Given the description of an element on the screen output the (x, y) to click on. 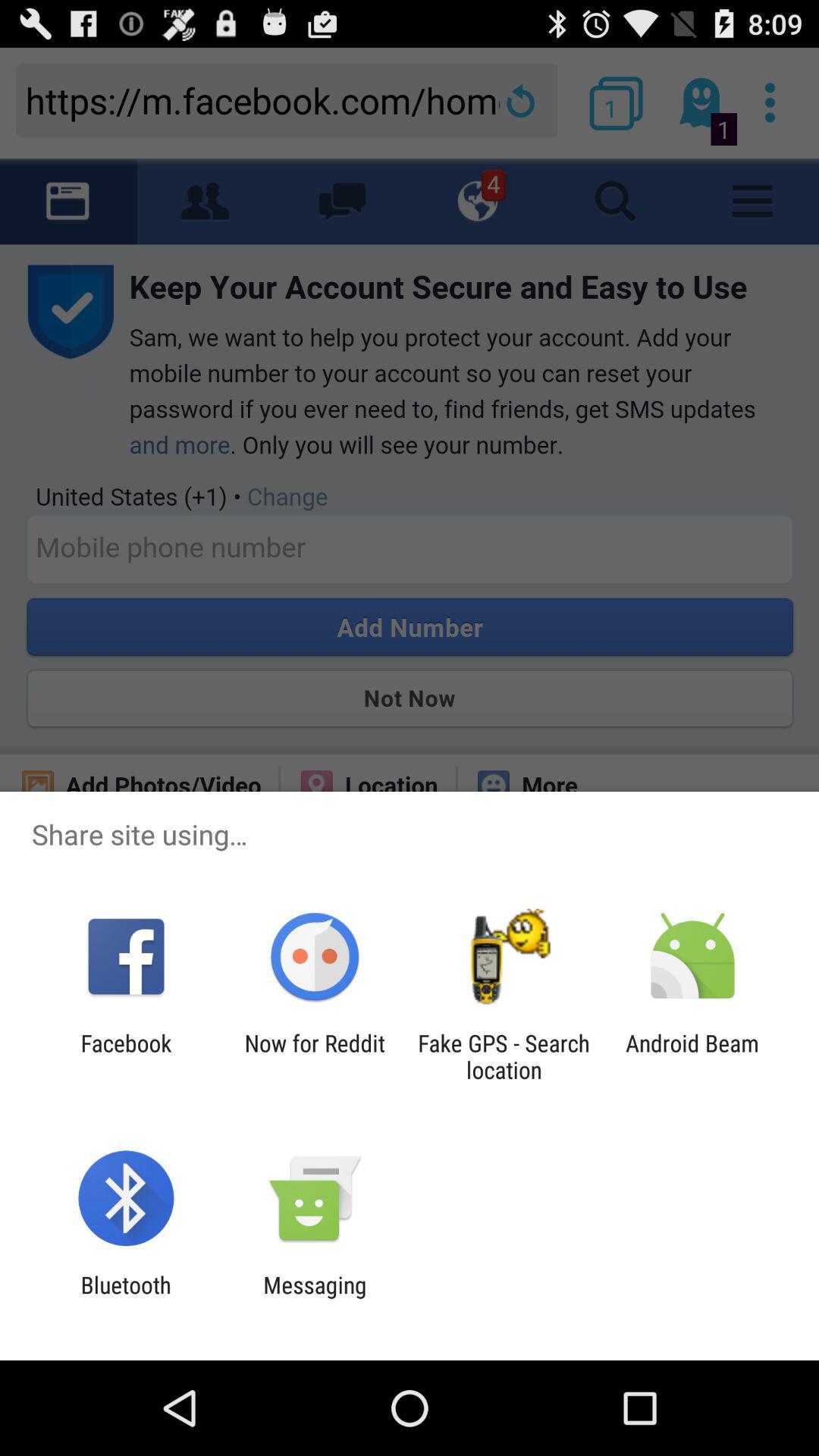
turn on app next to bluetooth app (314, 1298)
